Given the description of an element on the screen output the (x, y) to click on. 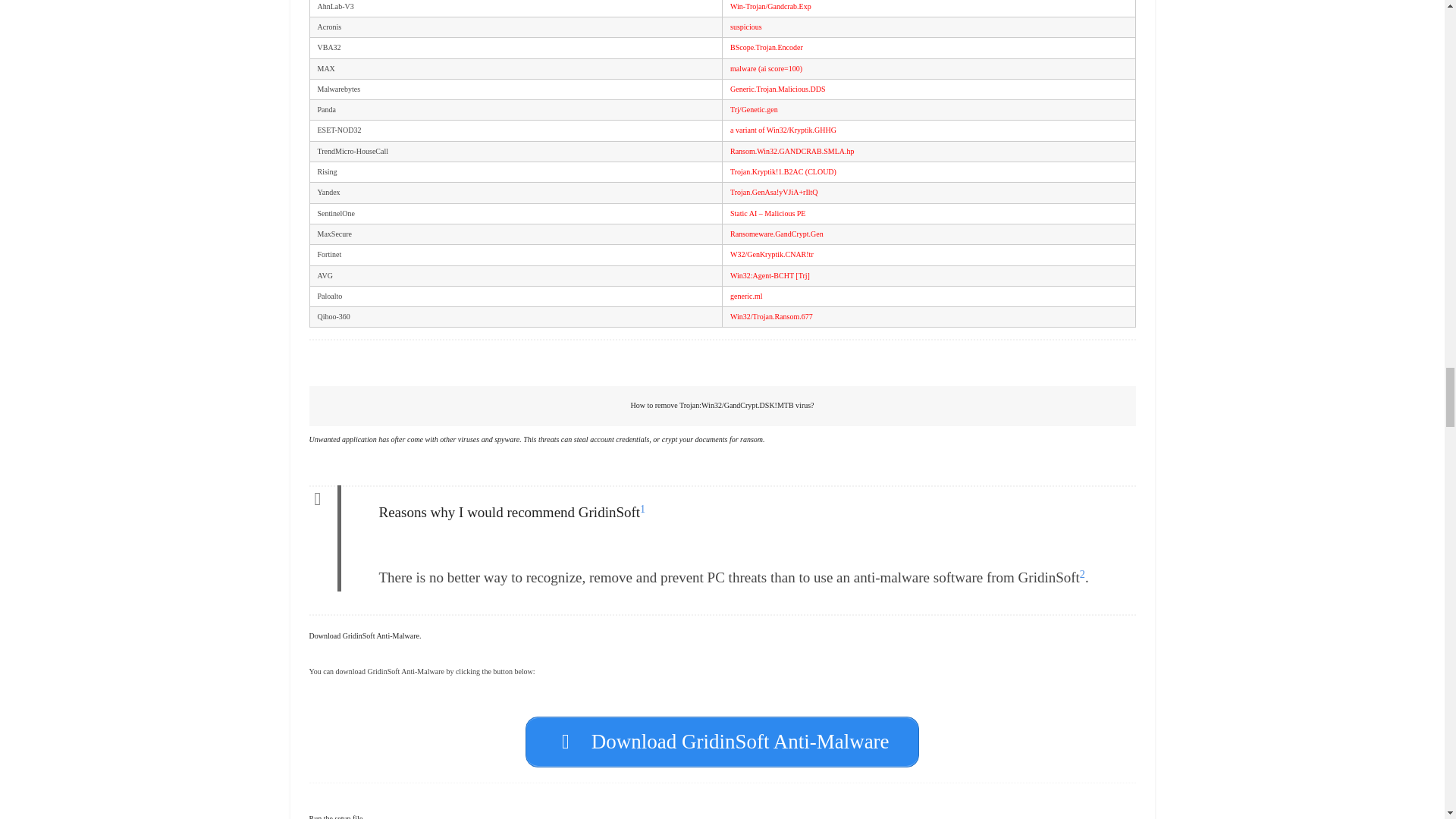
Download GridinSoft Anti-Malware (721, 741)
